Given the description of an element on the screen output the (x, y) to click on. 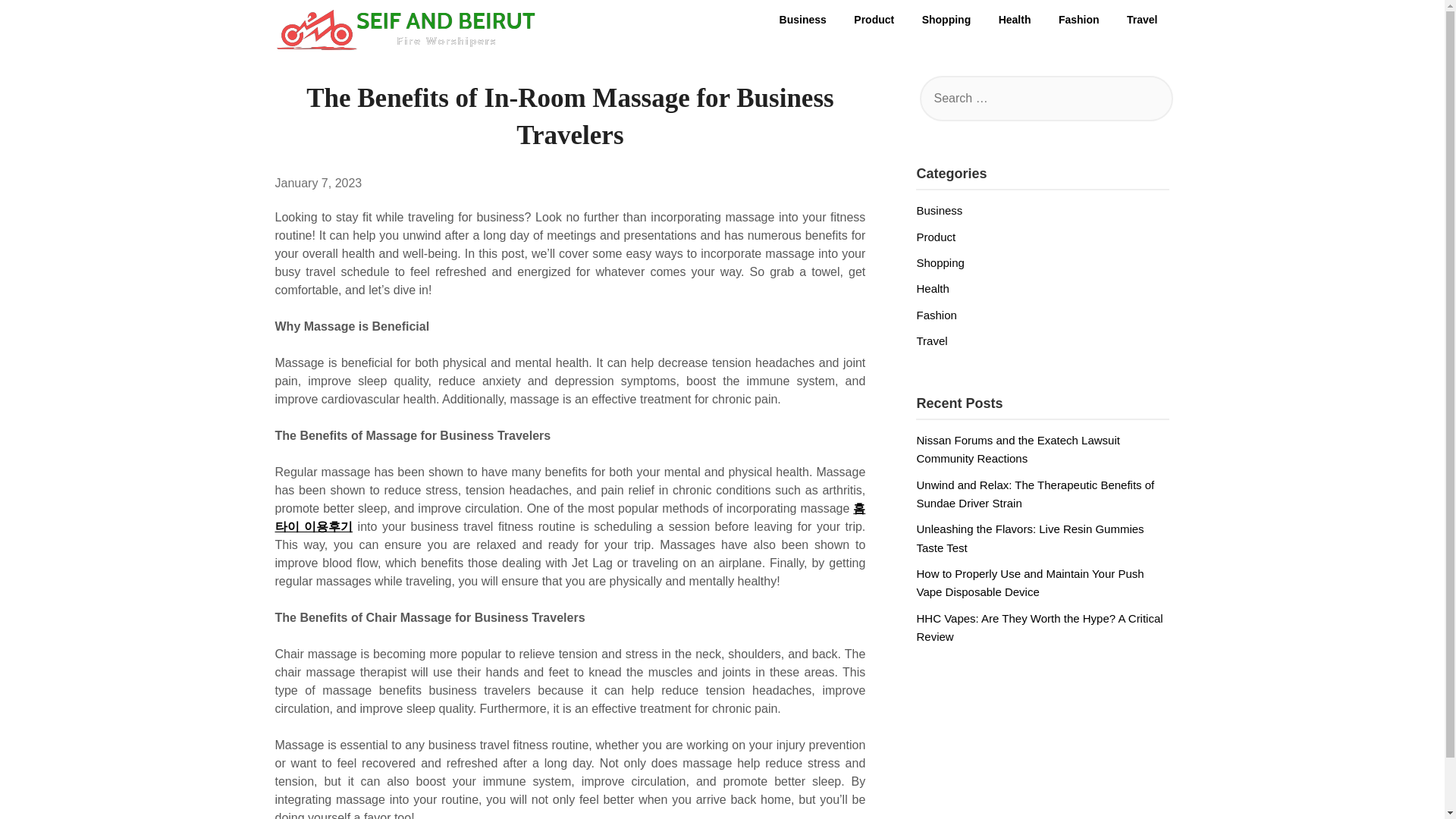
Fashion (1079, 20)
Product (873, 20)
Health (1015, 20)
Health (932, 287)
Business (802, 20)
Business (938, 210)
Product (935, 236)
Search (38, 22)
HHC Vapes: Are They Worth the Hype? A Critical Review (1038, 626)
Travel (931, 340)
Nissan Forums and the Exatech Lawsuit Community Reactions (1017, 449)
Travel (1142, 20)
Shopping (939, 262)
Fashion (935, 314)
